Given the description of an element on the screen output the (x, y) to click on. 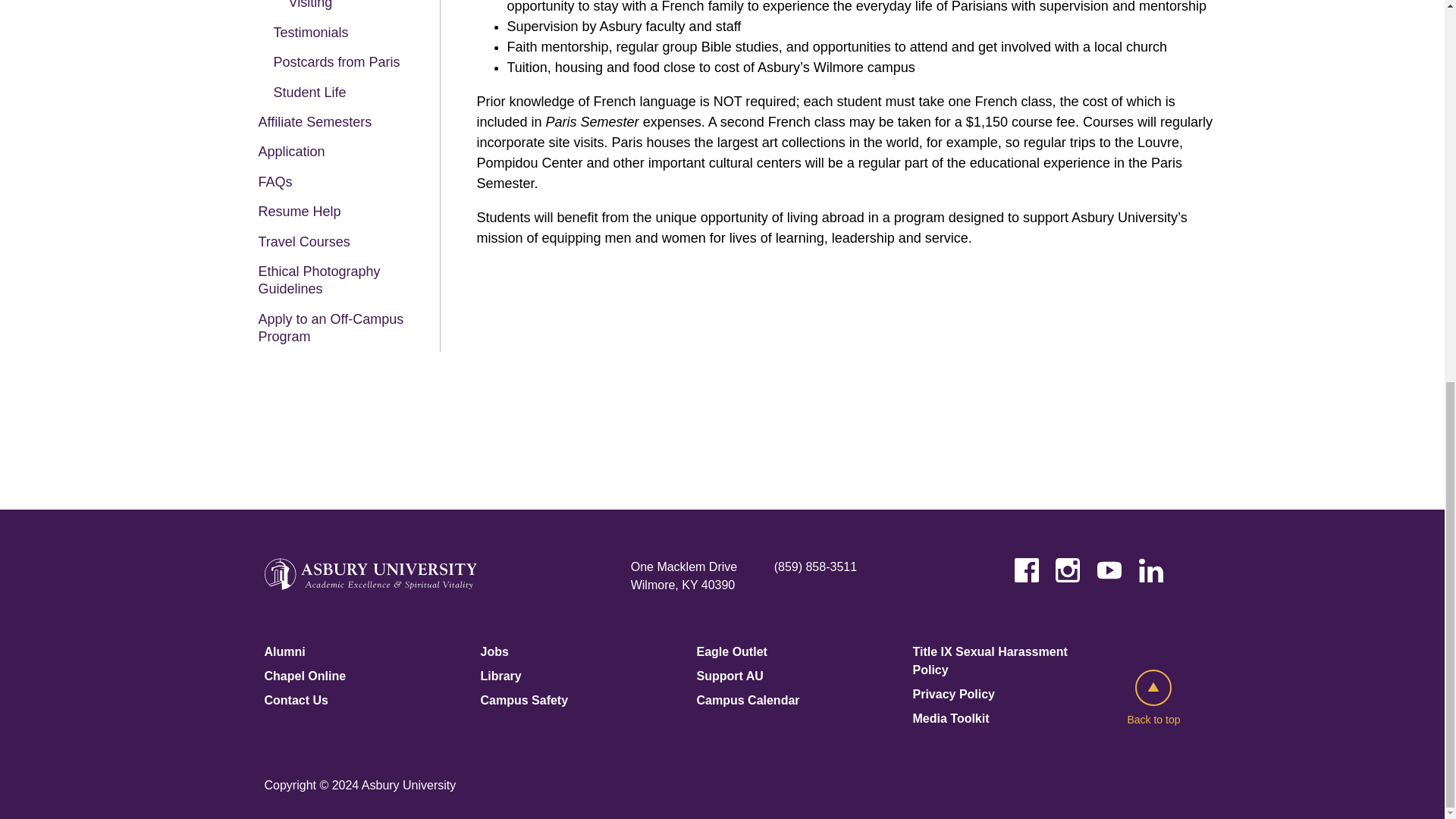
Back to top (1152, 698)
